Given the description of an element on the screen output the (x, y) to click on. 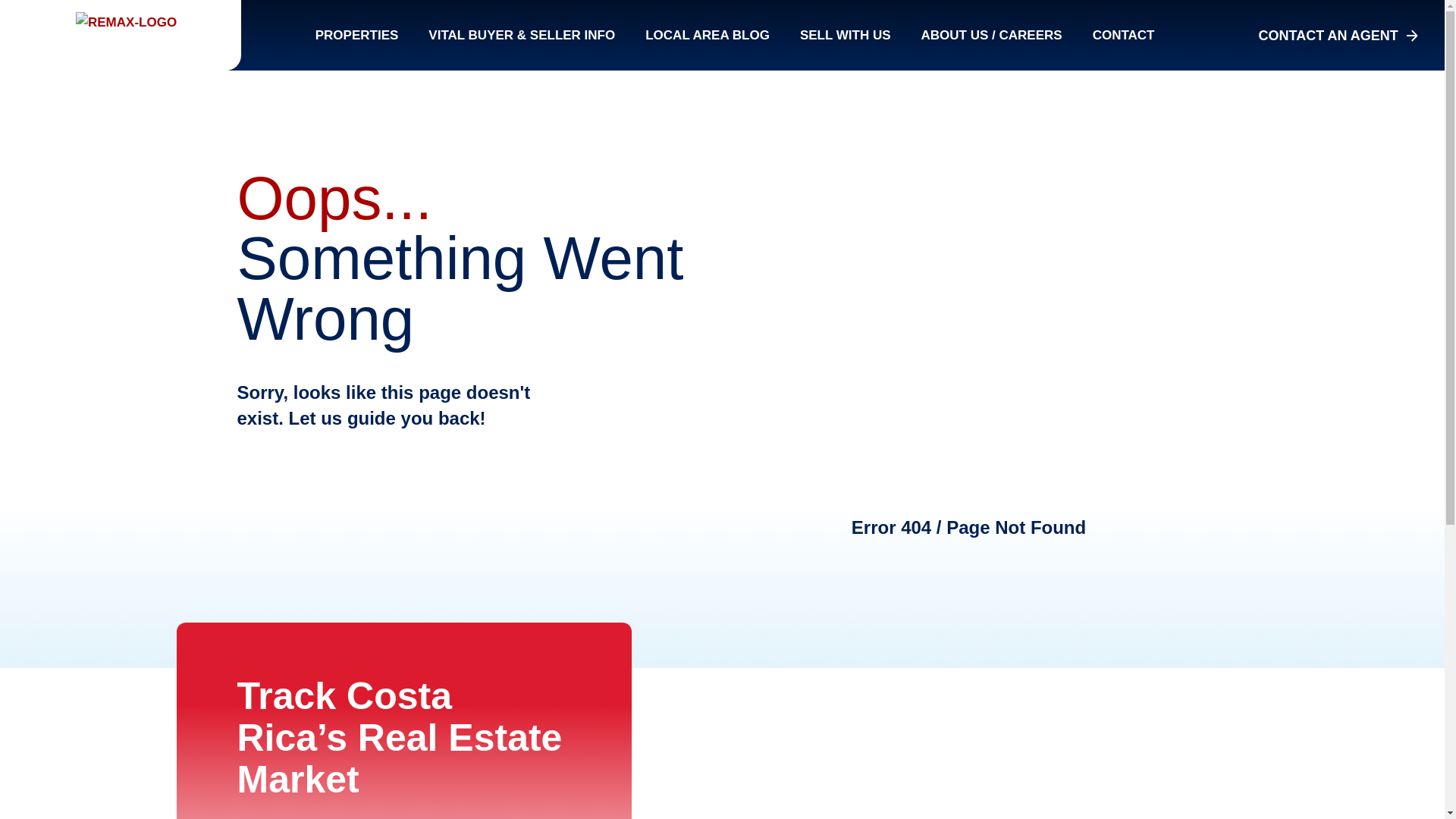
GO TO HOMEPAGE (343, 503)
LOCAL AREA BLOG (707, 34)
SELL WITH US (844, 34)
CONTACT (1123, 34)
PROPERTIES (356, 34)
